Given the description of an element on the screen output the (x, y) to click on. 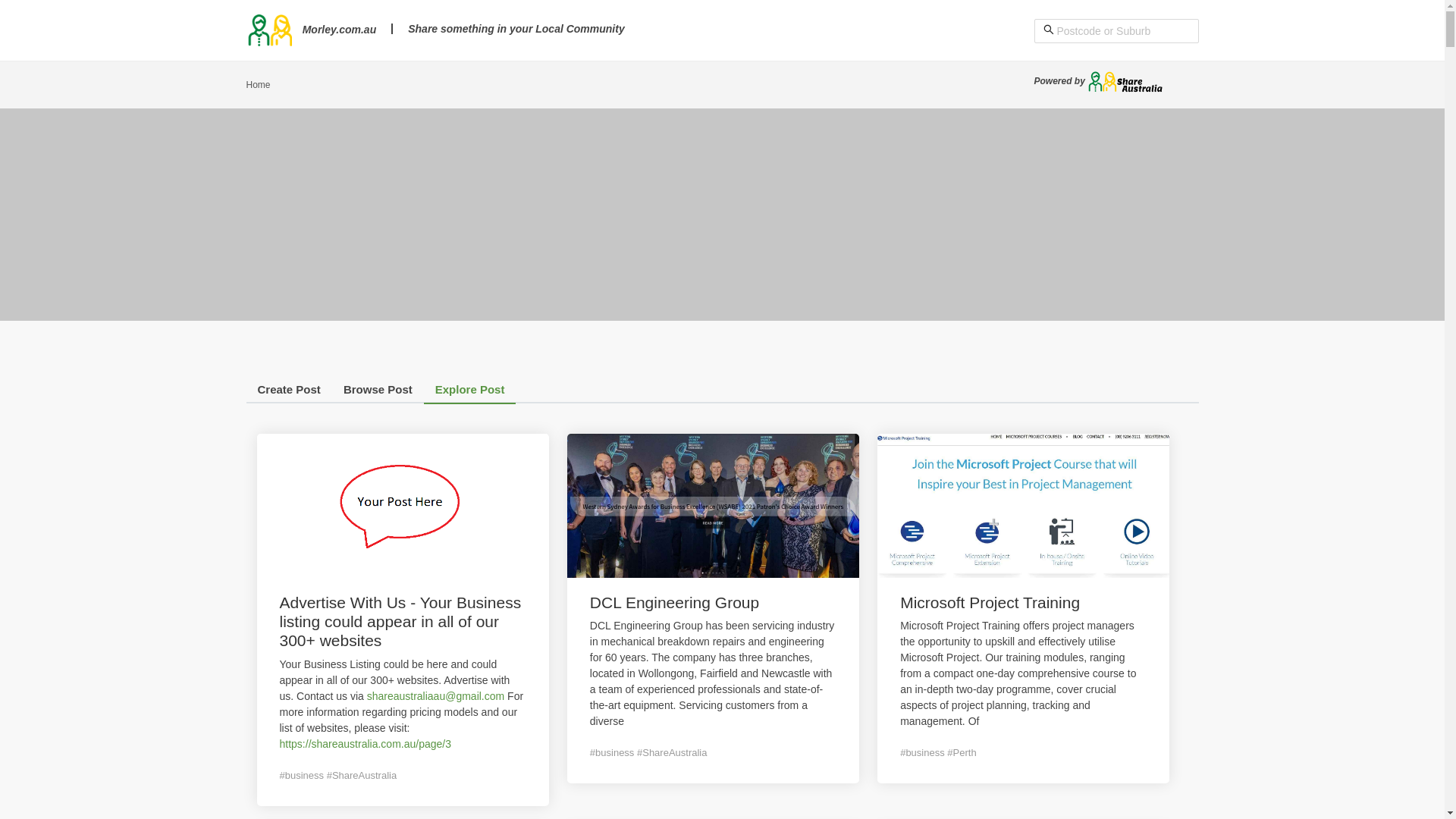
Powered by Element type: text (1099, 80)
Advertisement Element type: hover (721, 214)
Create Post Element type: text (288, 392)
Explore Post Element type: text (469, 392)
DCL Engineering Group Element type: text (674, 602)
Morley.com.au Element type: text (310, 29)
Microsoft Project Training Element type: text (989, 602)
shareaustraliaau@gmail.com Element type: text (437, 696)
https://shareaustralia.com.au/page/3 Element type: text (364, 743)
Browse Post Element type: text (377, 392)
